Given the description of an element on the screen output the (x, y) to click on. 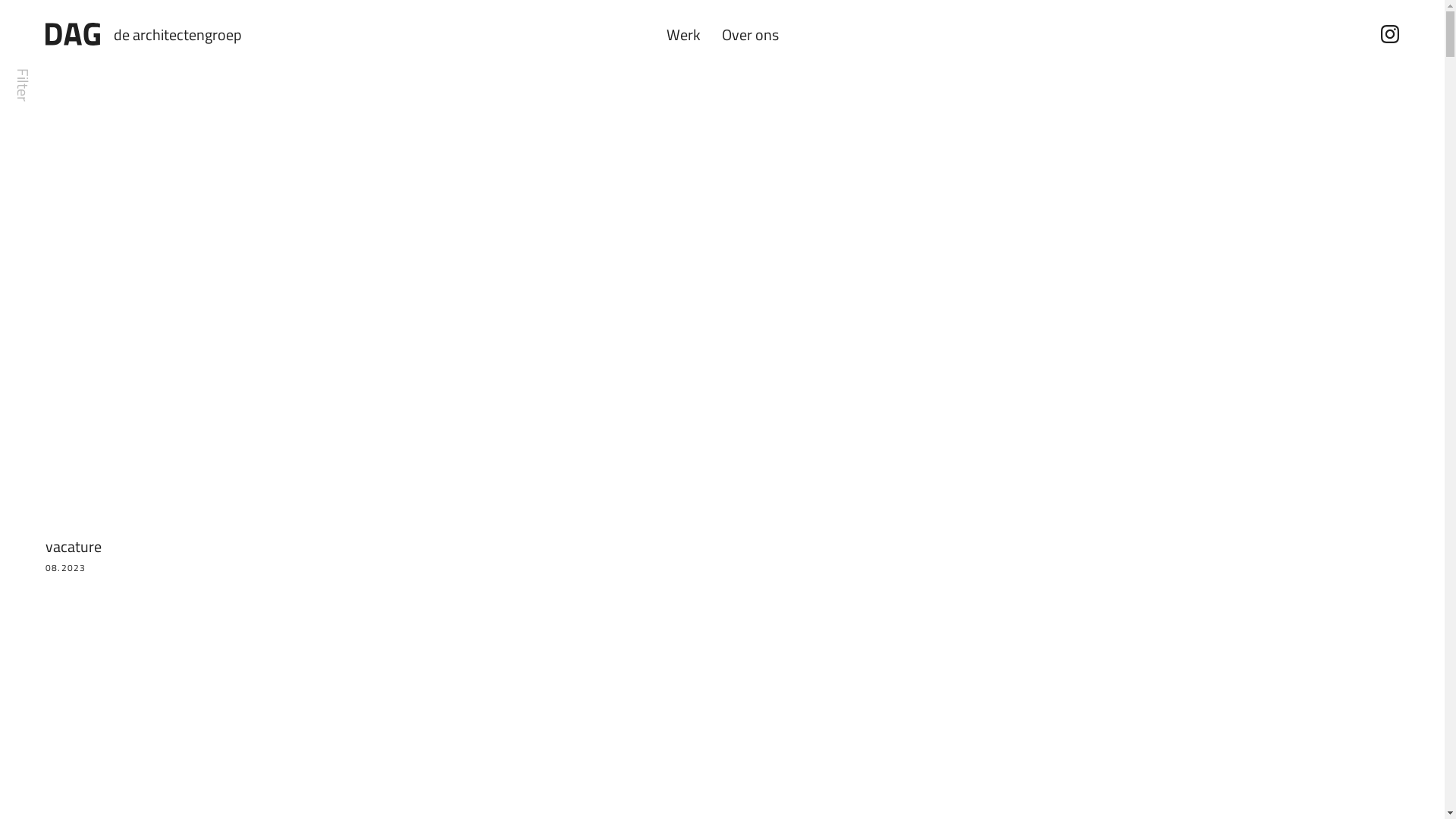
de architectengroep Element type: text (143, 33)
Over ons Element type: text (749, 33)
vacature
08.2023 Element type: text (197, 320)
Werk Element type: text (682, 33)
